Given the description of an element on the screen output the (x, y) to click on. 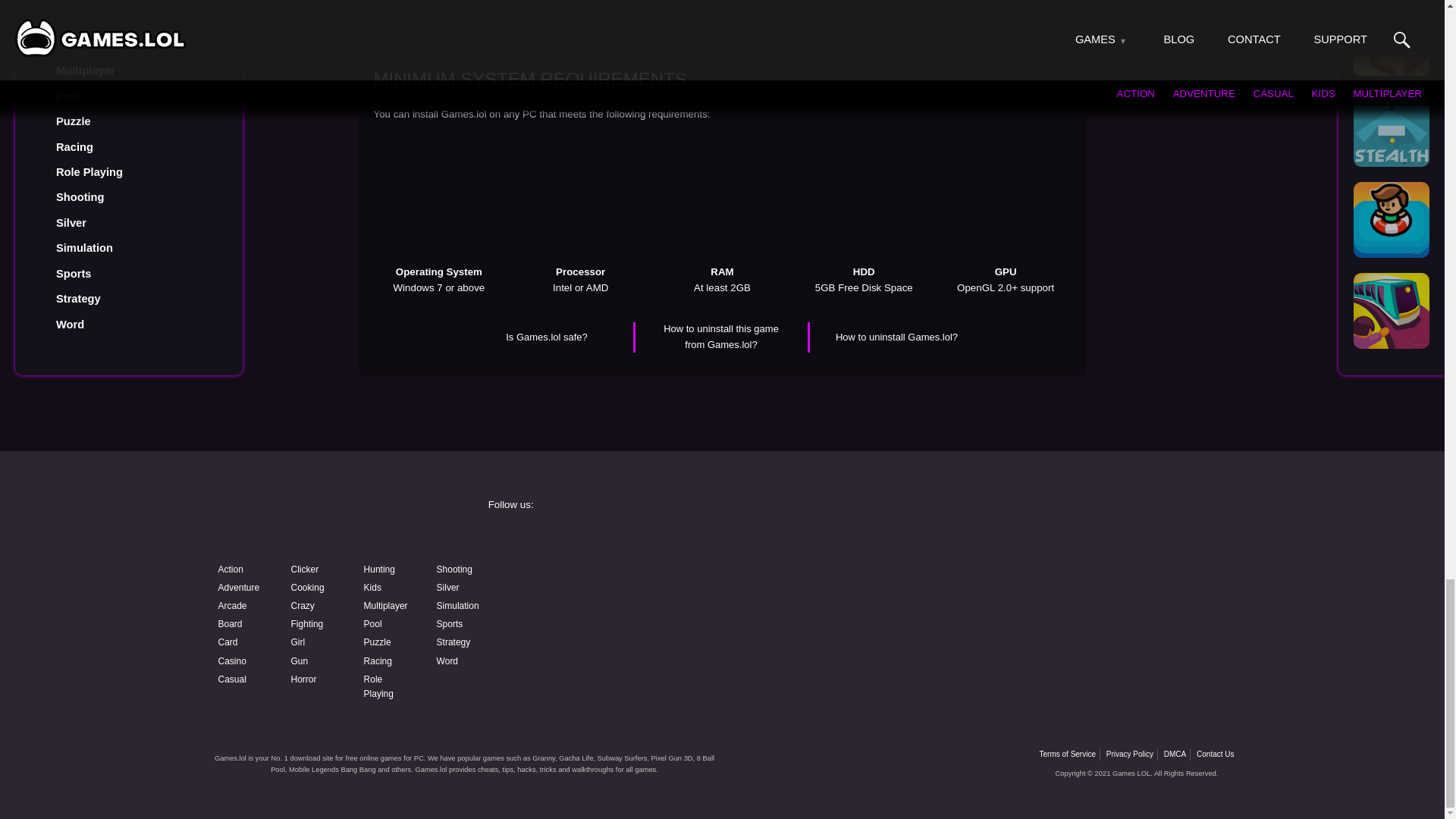
Discord (838, 579)
Instagram (838, 540)
Games.lol free game download website logo (319, 519)
Pinterest (1073, 579)
Facebook (603, 540)
Twitter (1073, 540)
YouTube (603, 579)
Reddit (603, 619)
